Given the description of an element on the screen output the (x, y) to click on. 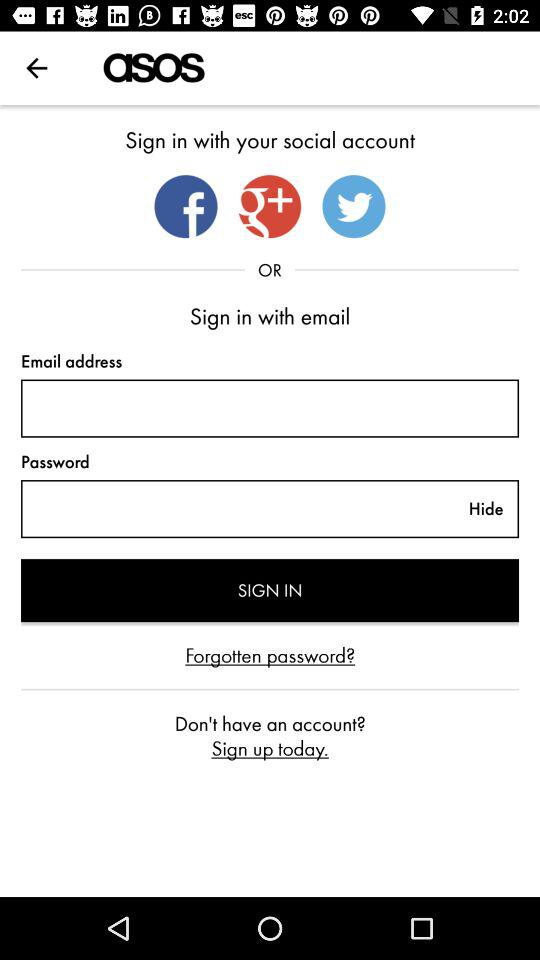
sign in with google plus account (269, 206)
